Given the description of an element on the screen output the (x, y) to click on. 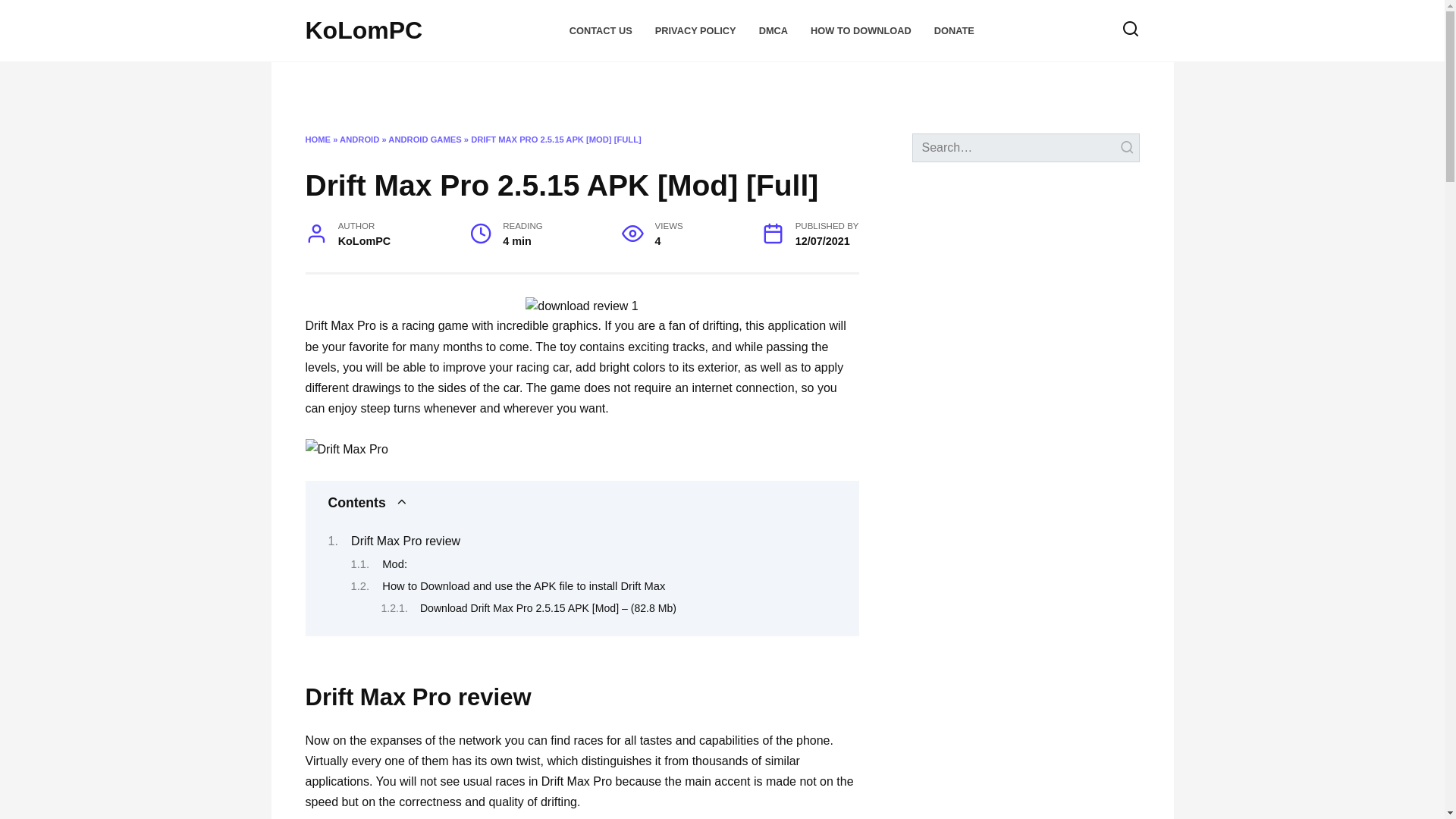
PC Games (749, 86)
Programs (467, 86)
HOW TO DOWNLOAD (860, 30)
Android (560, 86)
CONTACT US (600, 30)
Mod: (394, 563)
DONATE (954, 30)
macOS (386, 86)
PRIVACY POLICY (695, 30)
Drift Max Pro review (405, 540)
